Given the description of an element on the screen output the (x, y) to click on. 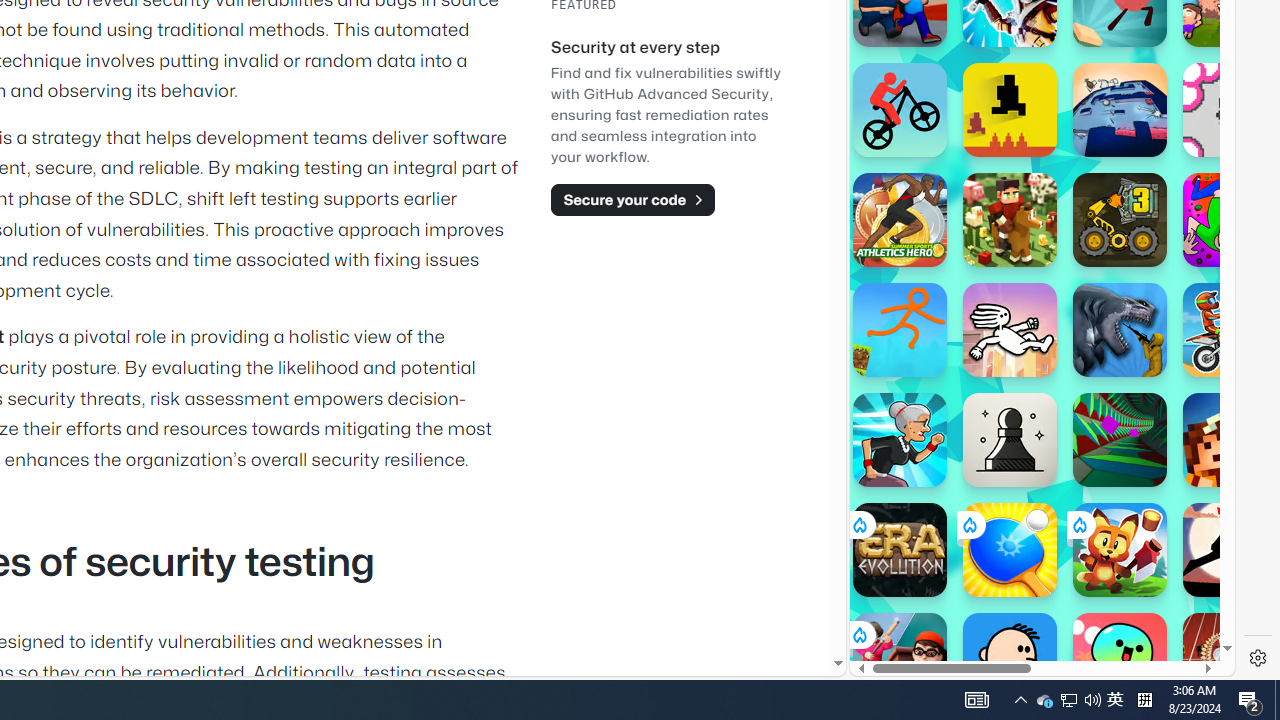
Poor Eddie (1009, 659)
Ping Pong Go! Ping Pong Go! (1009, 549)
Dreadhead Parkour Dreadhead Parkour (1009, 329)
Search results from poki.com (1005, 59)
Sharkosaurus Rampage (1119, 329)
BoxRob 3 BoxRob 3 (1119, 219)
SUBWAY SURFERS - Play Online for Free! | Poki (1034, 624)
Poor Eddie Poor Eddie (1009, 659)
School Escape! School Escape! (899, 659)
Ping Pong Go! (1009, 549)
Stickman Bike (899, 109)
Combat Reloaded (1092, 200)
